Given the description of an element on the screen output the (x, y) to click on. 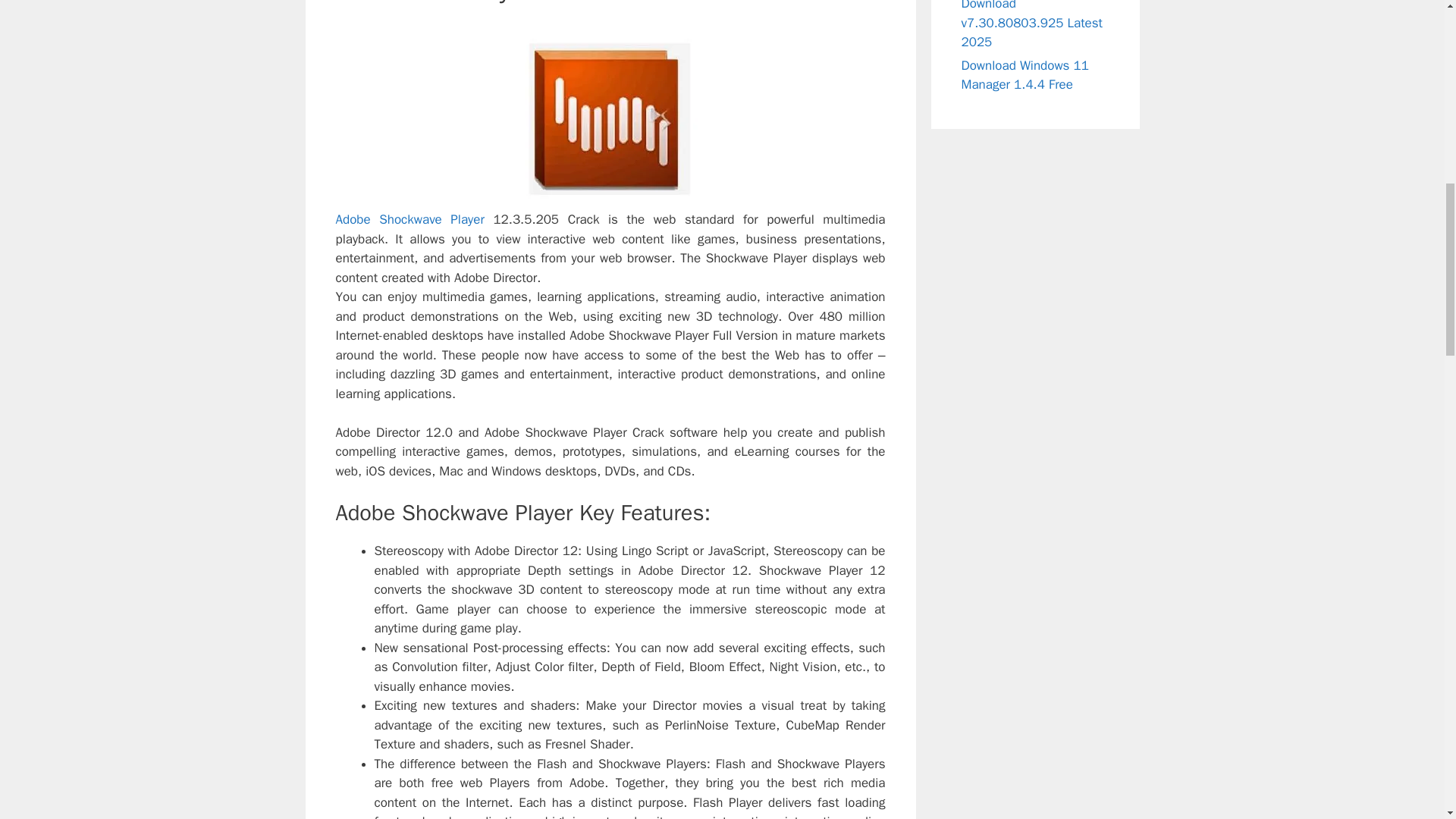
Adobe Shockwave Player (408, 219)
Adobe Shockwave Player Crack (609, 114)
